Given the description of an element on the screen output the (x, y) to click on. 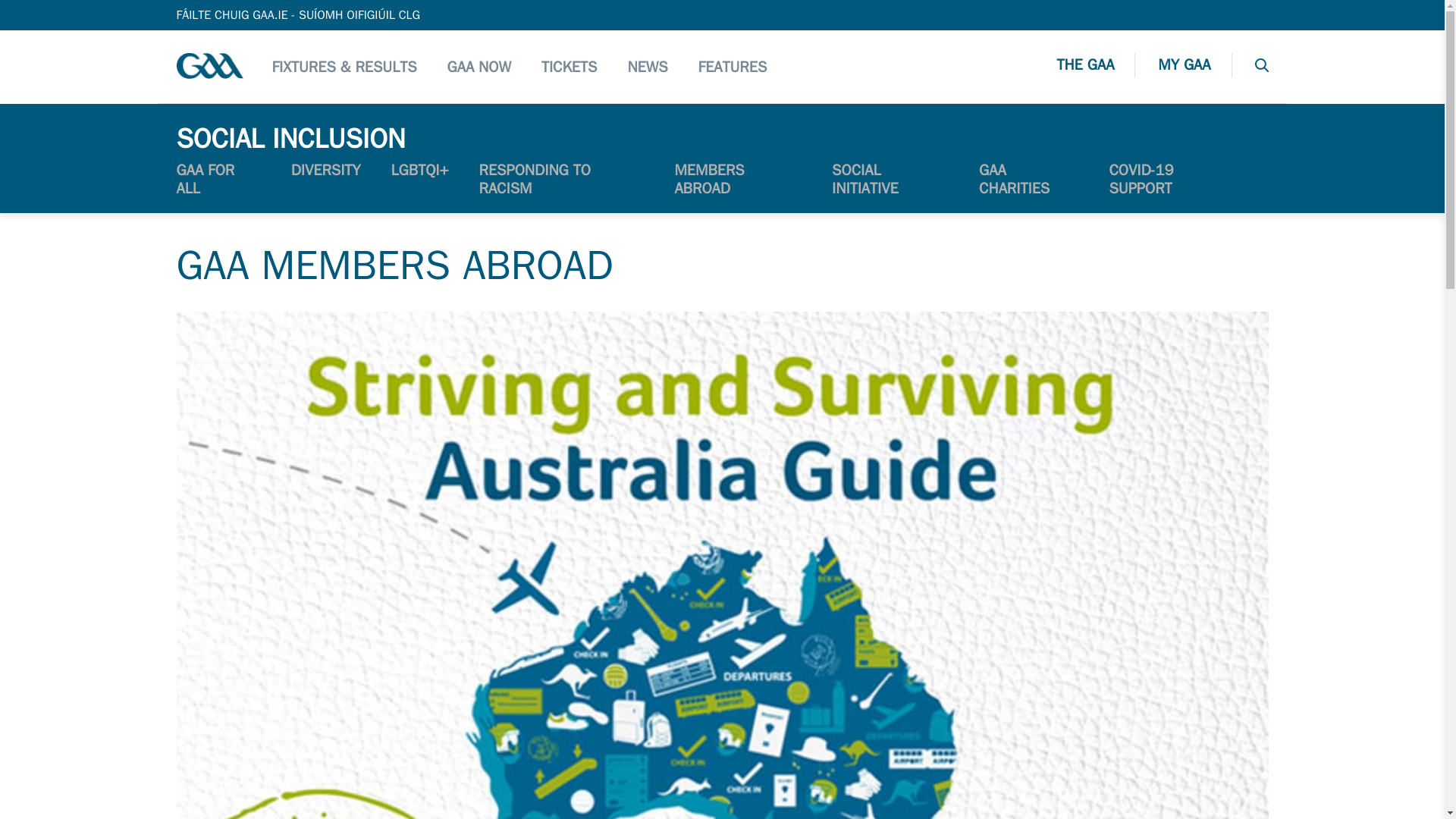
THE GAA (1096, 66)
FEATURES (732, 66)
TICKETS (568, 66)
NEWS (646, 66)
GAA NOW (478, 66)
